Given the description of an element on the screen output the (x, y) to click on. 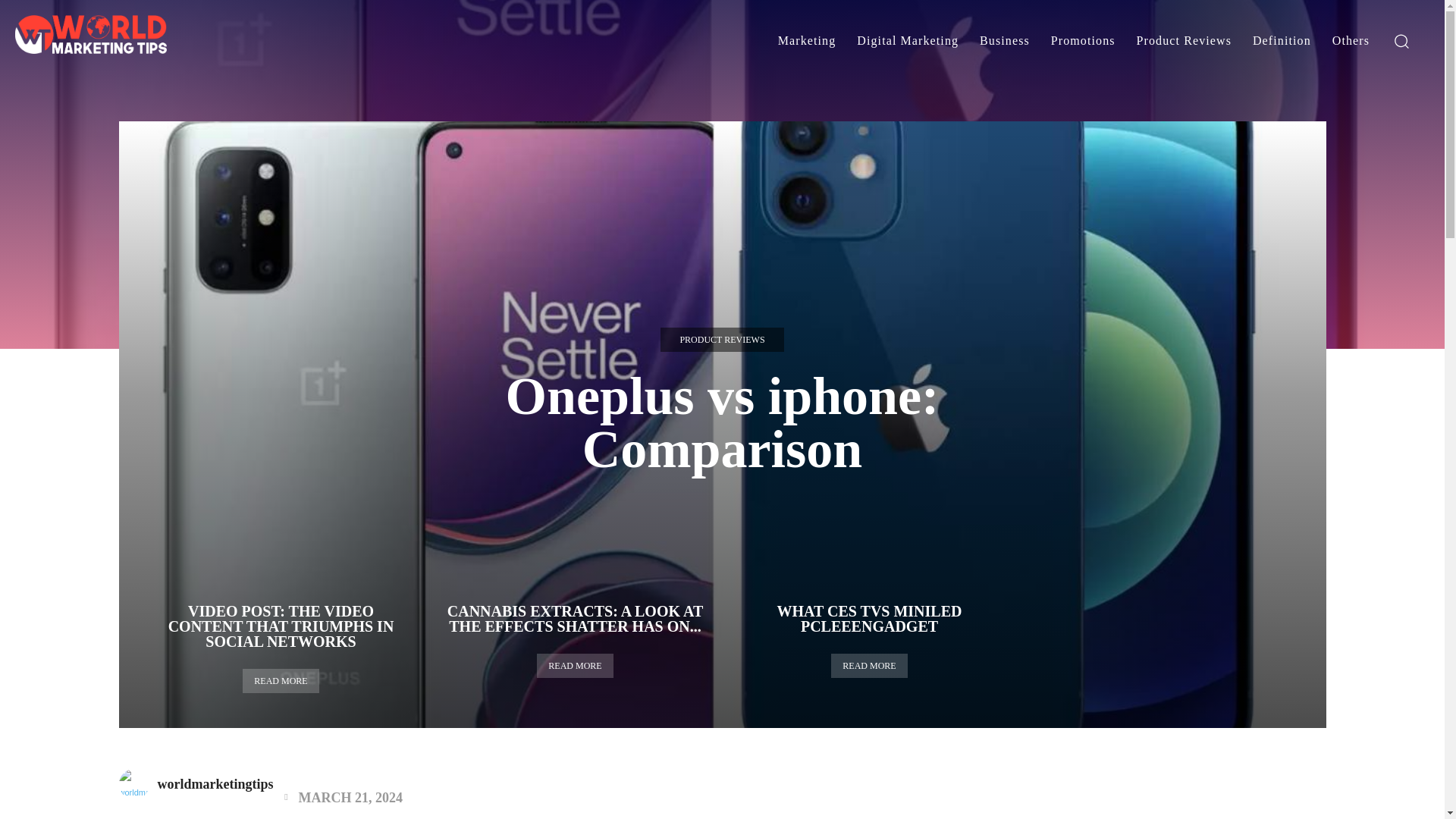
Definition (1281, 40)
Business (1005, 40)
worldmarketingtips (135, 784)
CANNABIS EXTRACTS: A LOOK AT THE EFFECTS SHATTER HAS ON... (574, 618)
Product Reviews (1183, 40)
Digital Marketing (907, 40)
Promotions (1083, 40)
PRODUCT REVIEWS (722, 339)
READ MORE (574, 665)
